Given the description of an element on the screen output the (x, y) to click on. 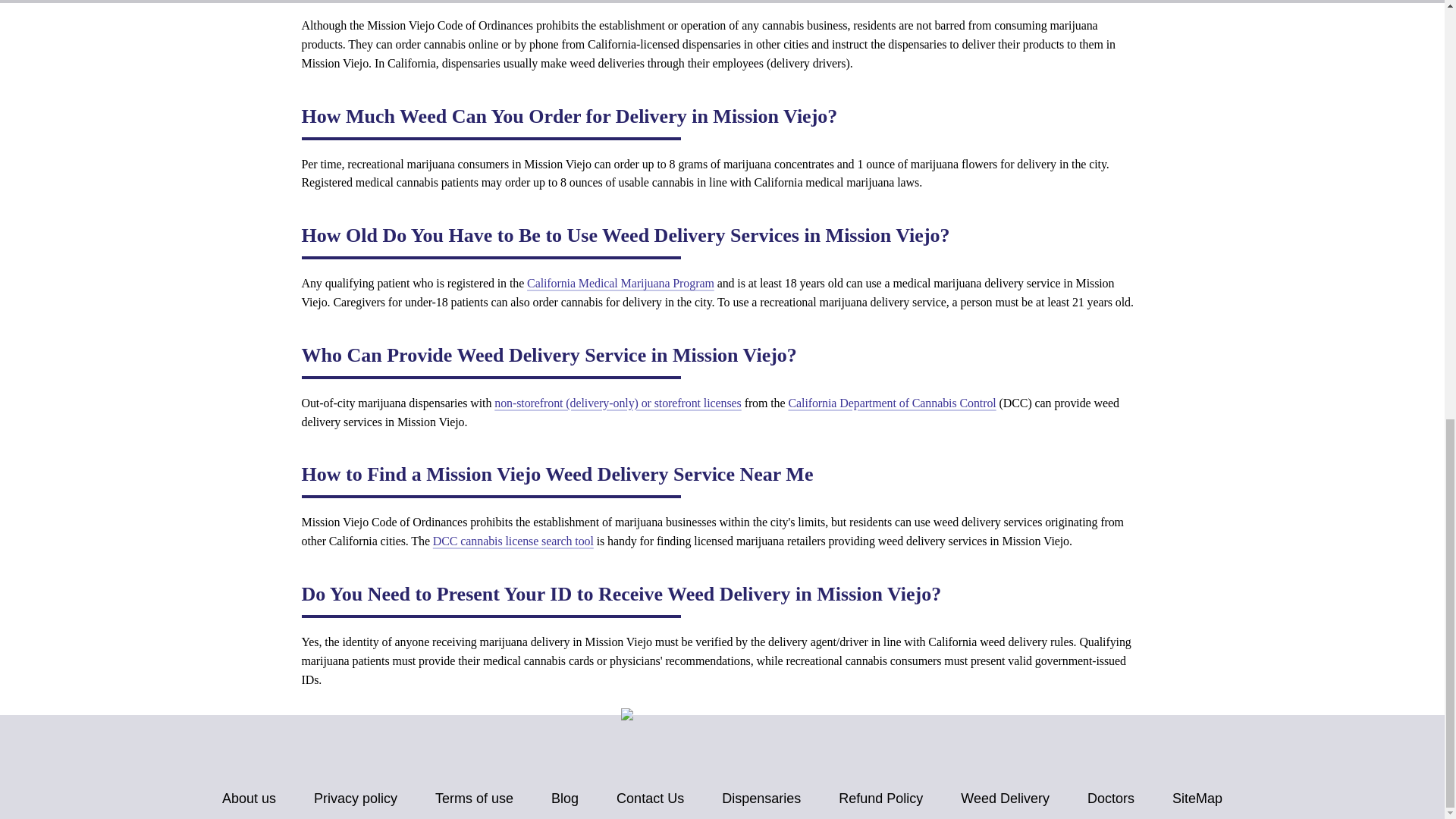
Terms of use (474, 798)
Weed Delivery (1004, 798)
DCC cannabis license search tool (513, 540)
Blog (564, 798)
Dispensaries (761, 798)
California Department of Cannabis Control (891, 402)
California Medical Marijuana Program (620, 282)
Contact Us (649, 798)
SiteMap (1197, 798)
Privacy policy (355, 798)
About us (249, 798)
Doctors (1110, 798)
Refund Policy (880, 798)
